Given the description of an element on the screen output the (x, y) to click on. 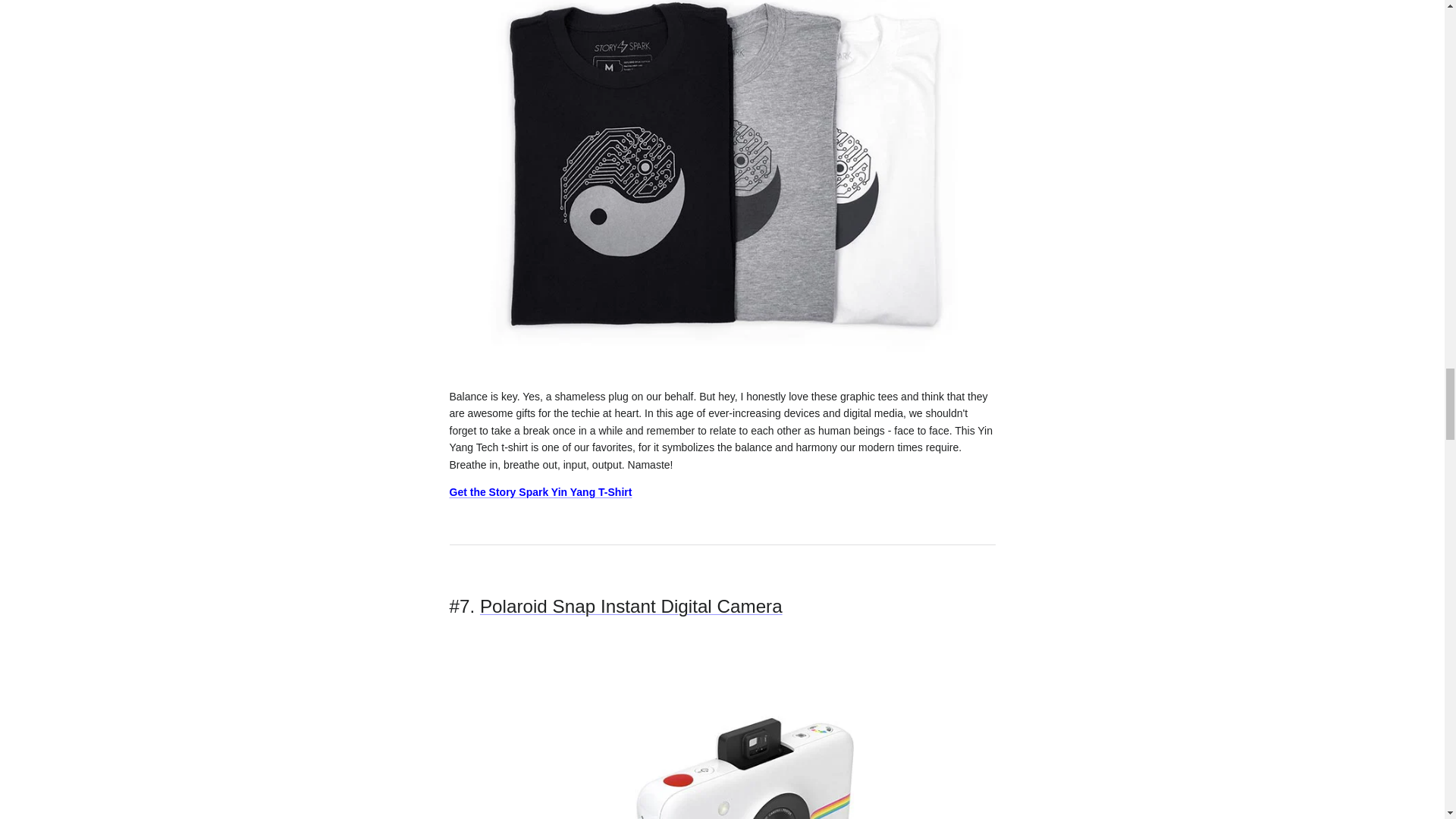
Polaroid Snap Instant Digital Camera (631, 606)
Story Spark Yin Yang Tee (539, 491)
Yin Yang Tech T-shirt by Story Spark (721, 369)
